Given the description of an element on the screen output the (x, y) to click on. 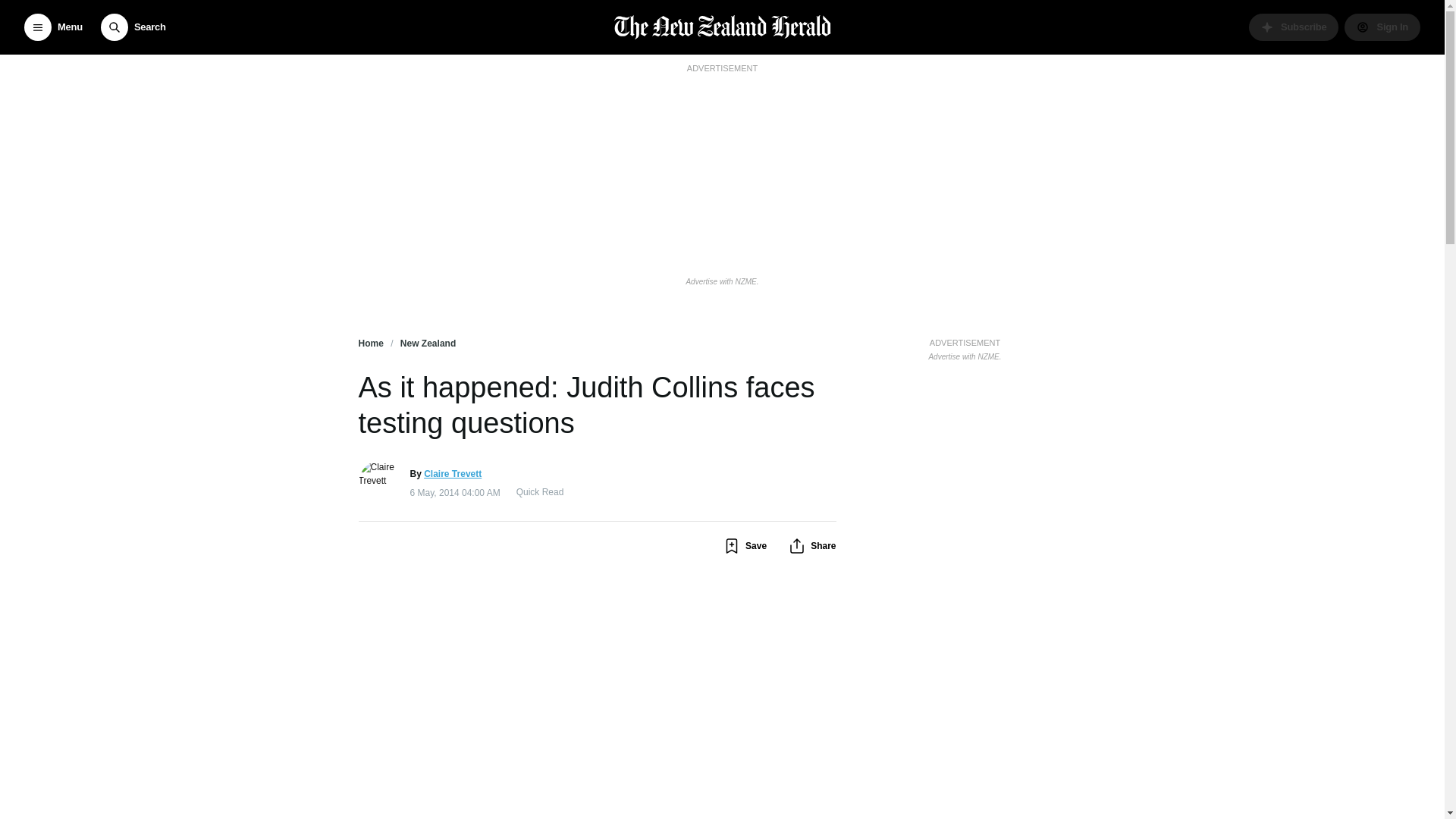
Menu (53, 26)
Sign In (1382, 26)
Subscribe (1294, 26)
Manage your account (1382, 26)
Search (132, 26)
